Given the description of an element on the screen output the (x, y) to click on. 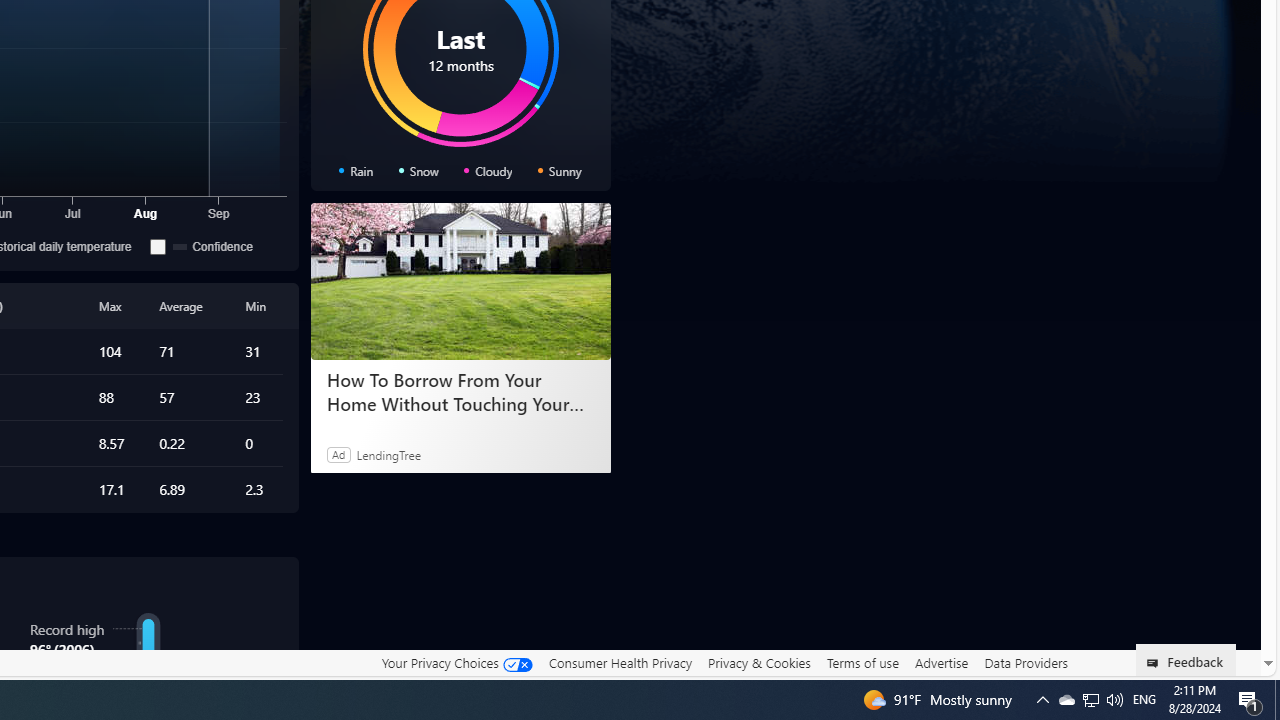
Data Providers (1025, 663)
LendingTree (388, 453)
How To Borrow From Your Home Without Touching Your Mortgage (459, 281)
Terms of use (861, 663)
Your Privacy Choices (456, 663)
Your Privacy Choices (456, 662)
Privacy & Cookies (759, 663)
Advertise (940, 662)
Terms of use (861, 662)
Consumer Health Privacy (619, 662)
Consumer Health Privacy (619, 663)
Advertise (940, 663)
Discover the Most Luxurious Homes in Dubai (460, 391)
Ad (338, 453)
Feedback (1186, 659)
